Given the description of an element on the screen output the (x, y) to click on. 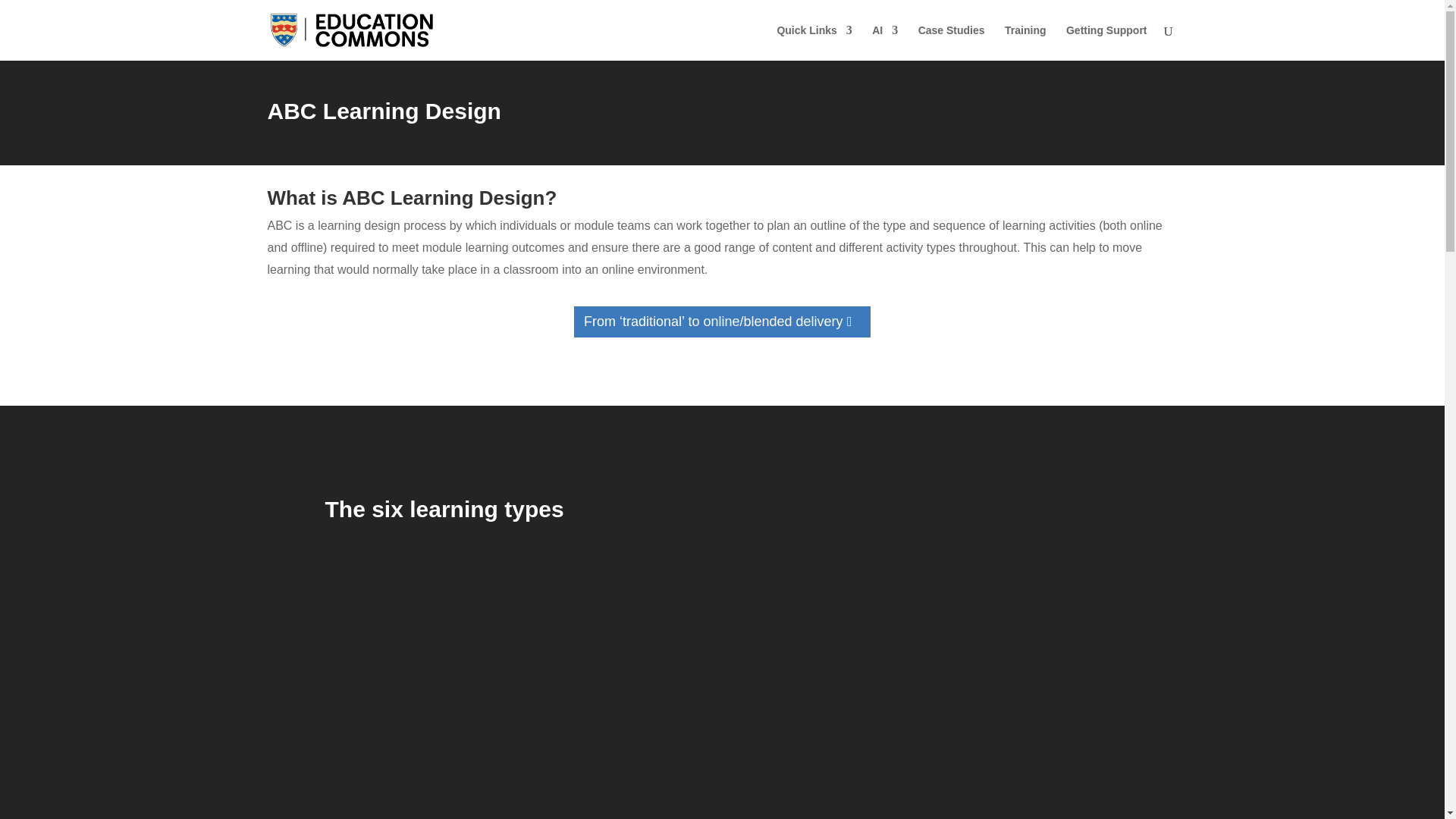
Training (1024, 42)
Quick Links (813, 42)
Case Studies (951, 42)
Getting Support (1106, 42)
